Given the description of an element on the screen output the (x, y) to click on. 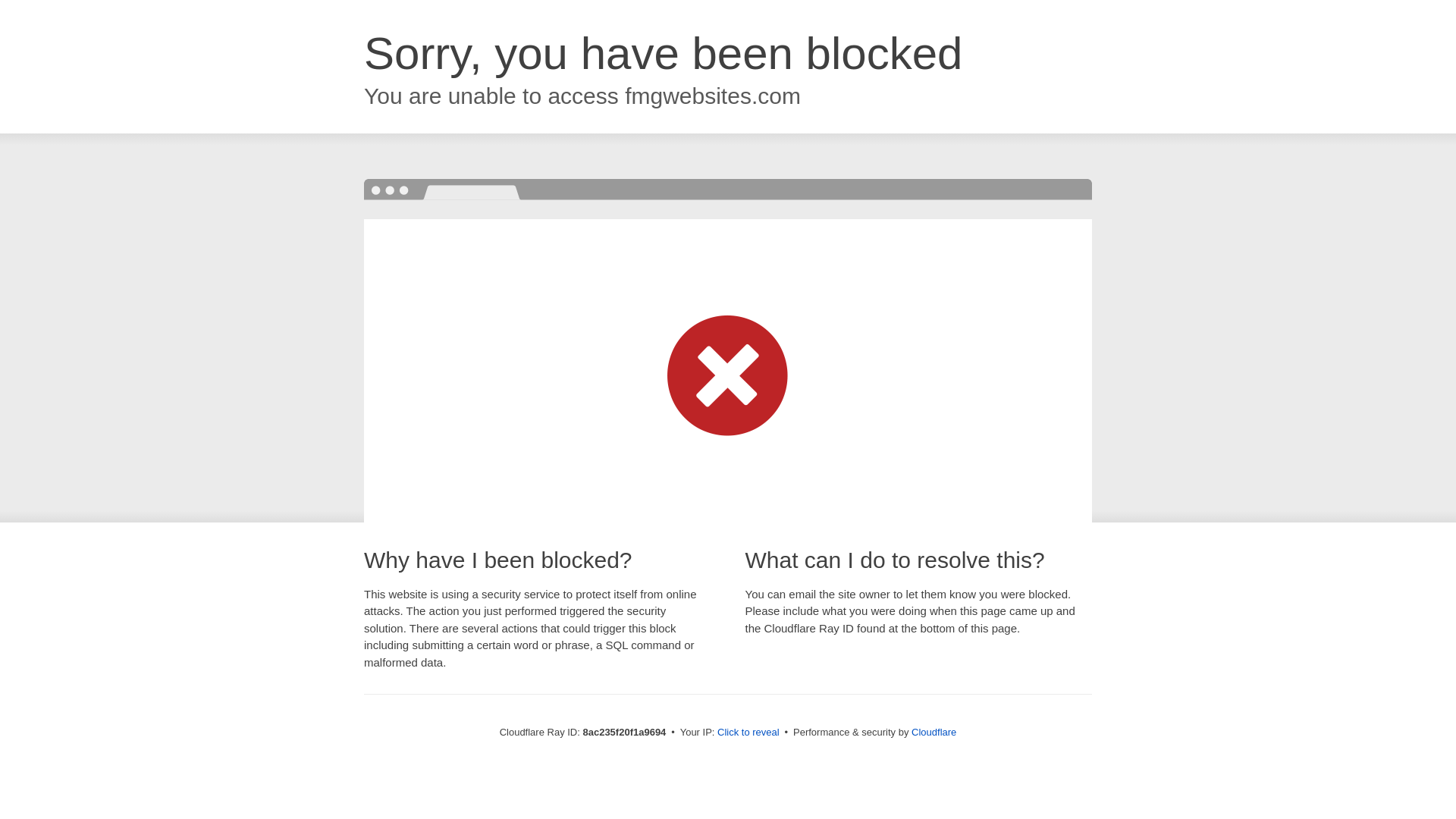
Click to reveal (747, 732)
Cloudflare (933, 731)
